Given the description of an element on the screen output the (x, y) to click on. 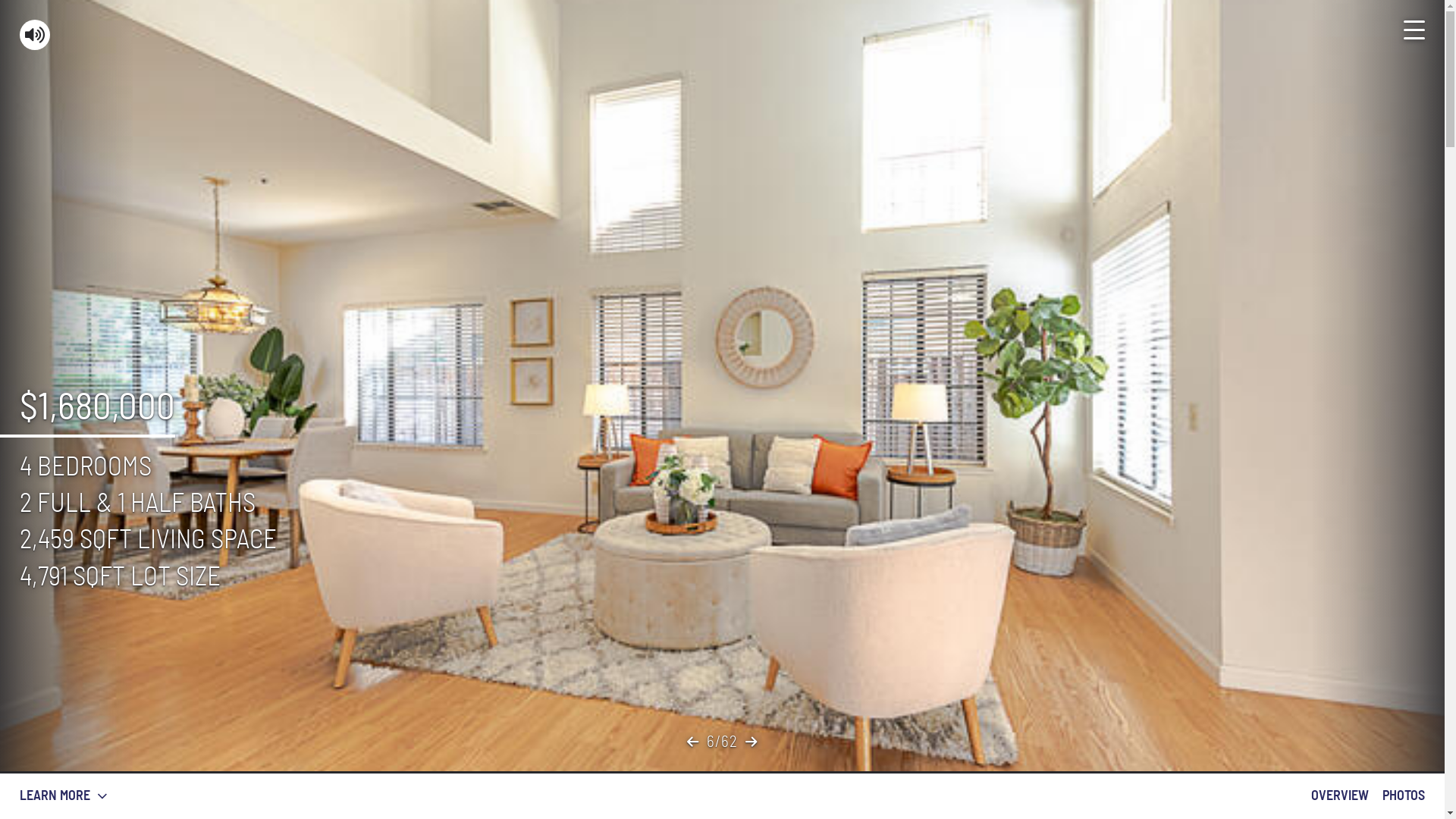
PHOTOS Element type: text (1403, 796)
OVERVIEW Element type: text (1339, 796)
